Given the description of an element on the screen output the (x, y) to click on. 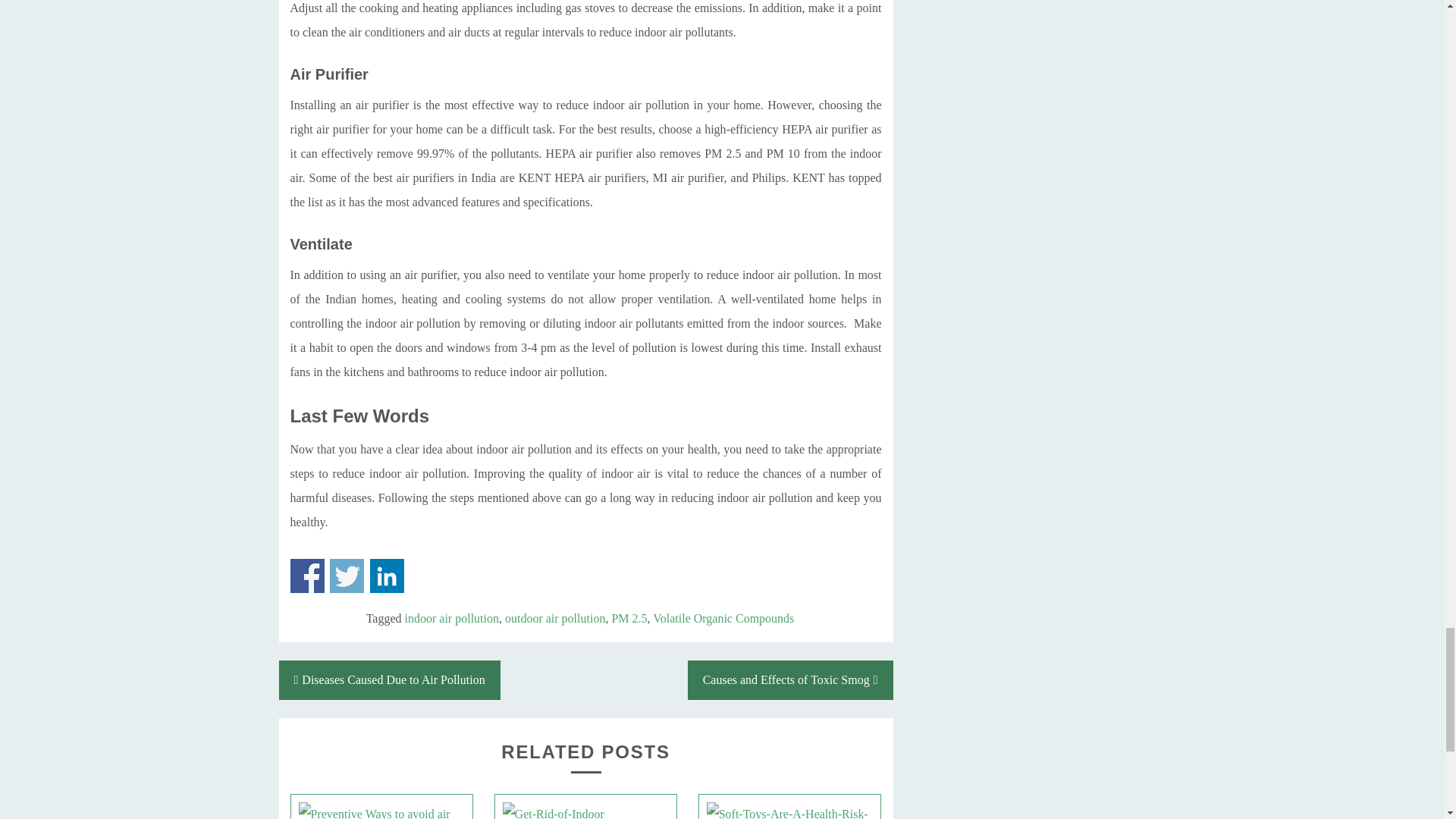
Volatile Organic Compounds (722, 617)
Causes and Effects of Toxic Smog (790, 680)
Share on Facebook (306, 575)
Diseases Caused Due to Air Pollution (389, 680)
indoor air pollution (451, 617)
PM 2.5 (628, 617)
outdoor air pollution (555, 617)
Share on Linkedin (386, 575)
Share on Twitter (347, 575)
